Given the description of an element on the screen output the (x, y) to click on. 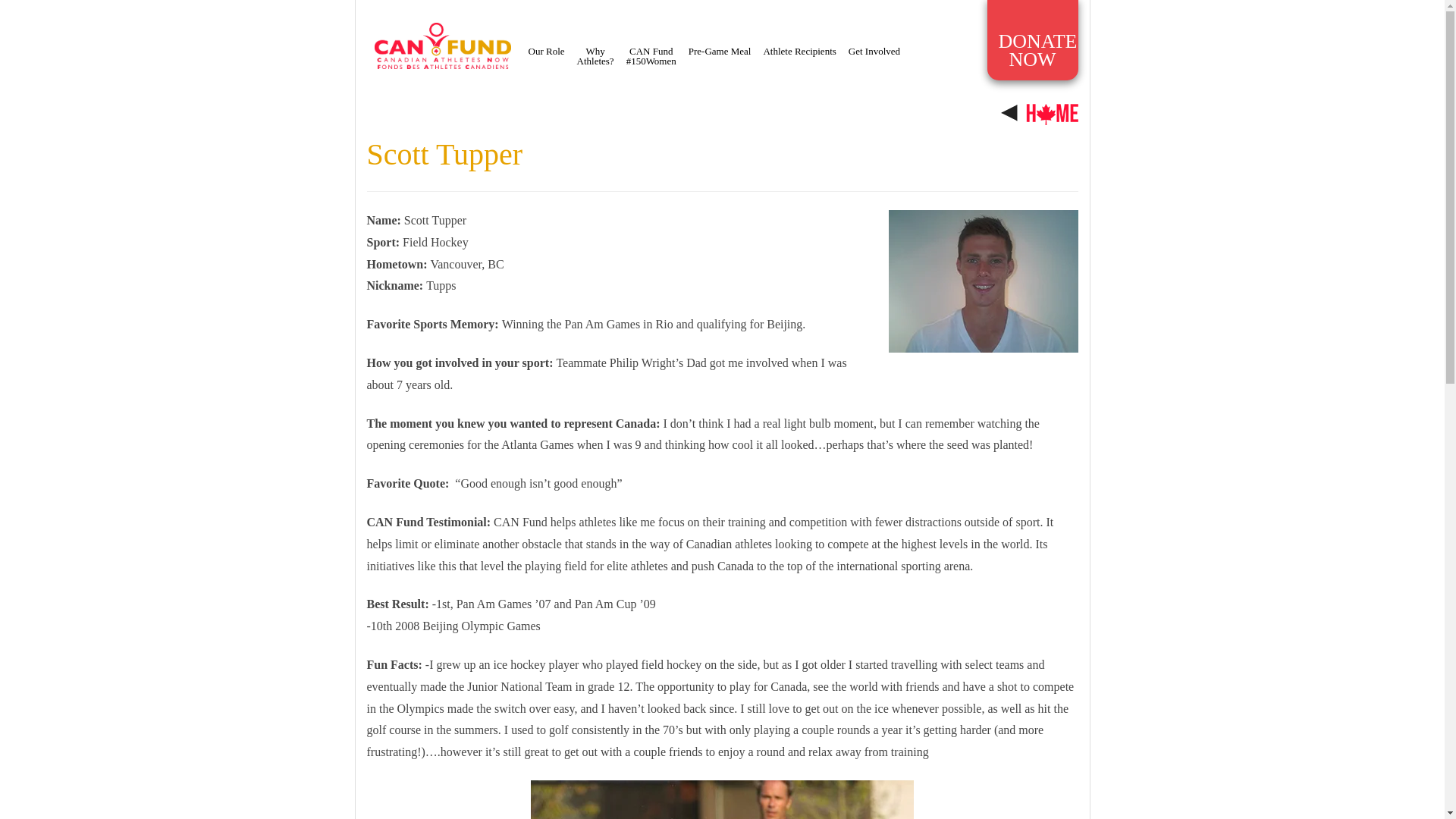
Pre-Game Meal (719, 51)
Get Involved (874, 51)
Our Role (595, 56)
DONATE NOW (545, 51)
Athlete Recipients (1032, 40)
